Given the description of an element on the screen output the (x, y) to click on. 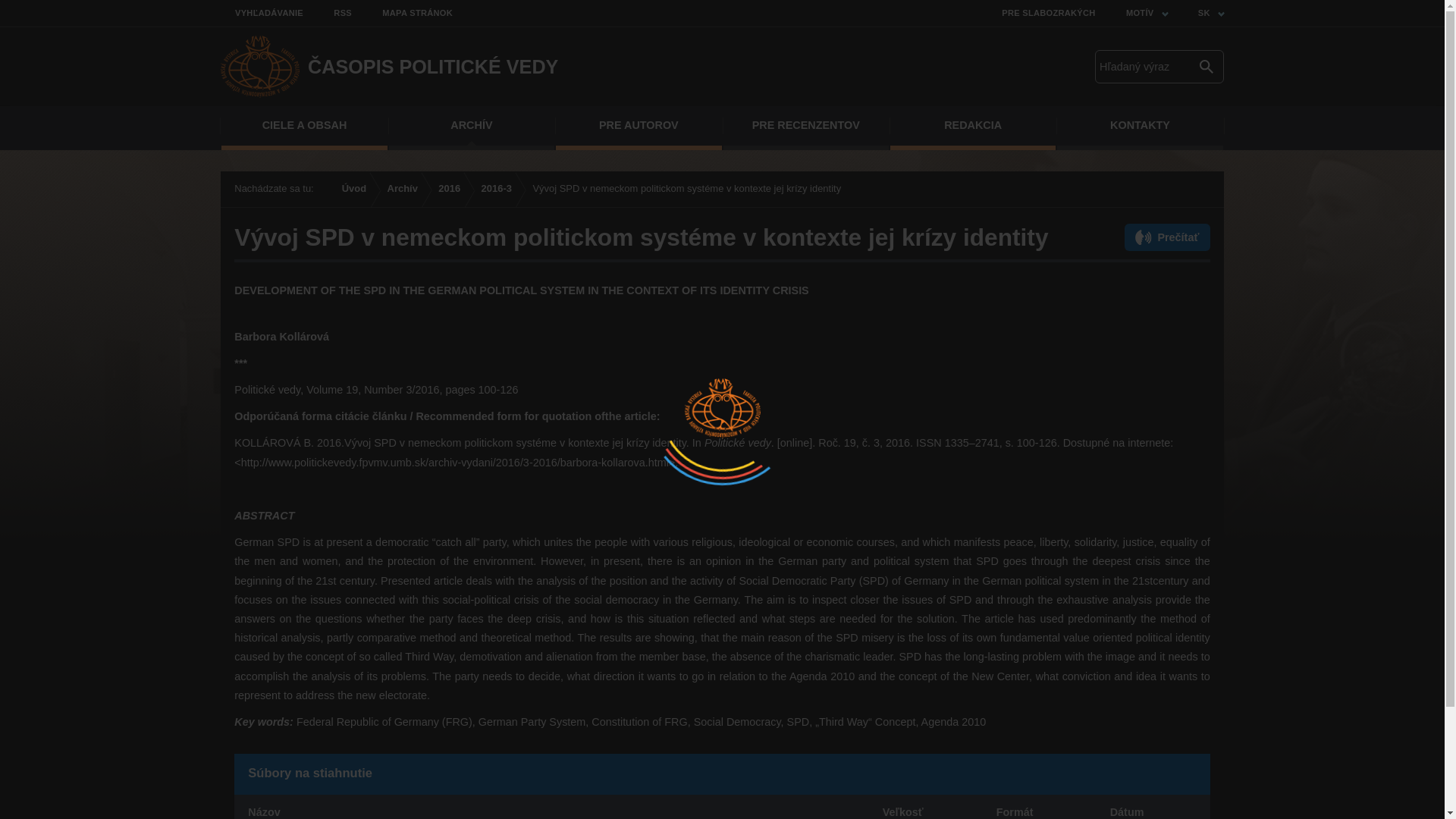
RSS (336, 13)
CIELE A OBSAH (304, 127)
